Given the description of an element on the screen output the (x, y) to click on. 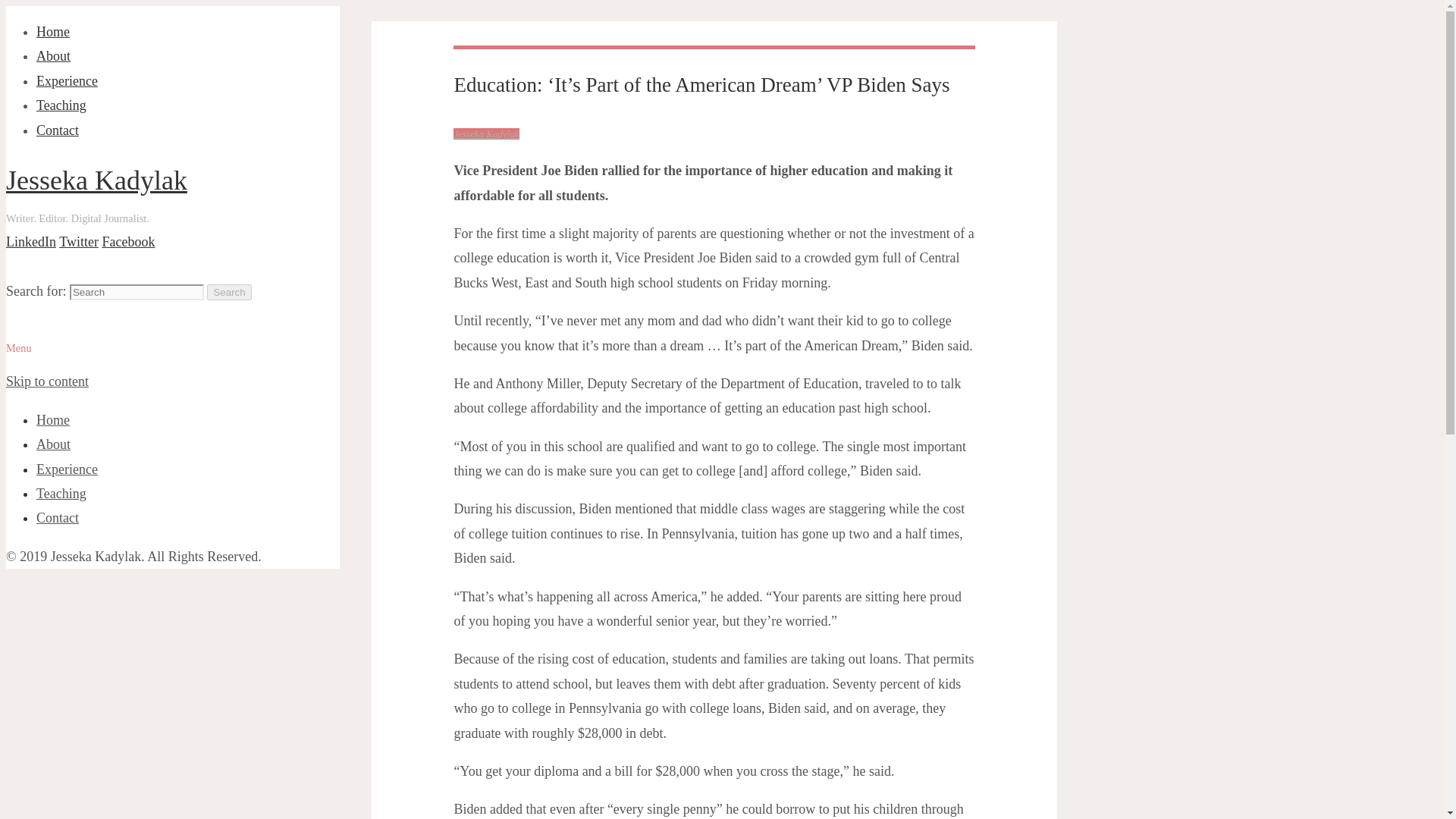
About (52, 55)
Experience (66, 80)
Home (52, 419)
Skip to content (46, 381)
View all posts by Jesseka Kadylak (485, 133)
Contact (57, 130)
Home (52, 31)
Teaching (60, 493)
Twitter (79, 241)
Facebook (127, 241)
About (52, 444)
Search (228, 292)
Teaching (60, 105)
Jesseka Kadylak (485, 133)
